Given the description of an element on the screen output the (x, y) to click on. 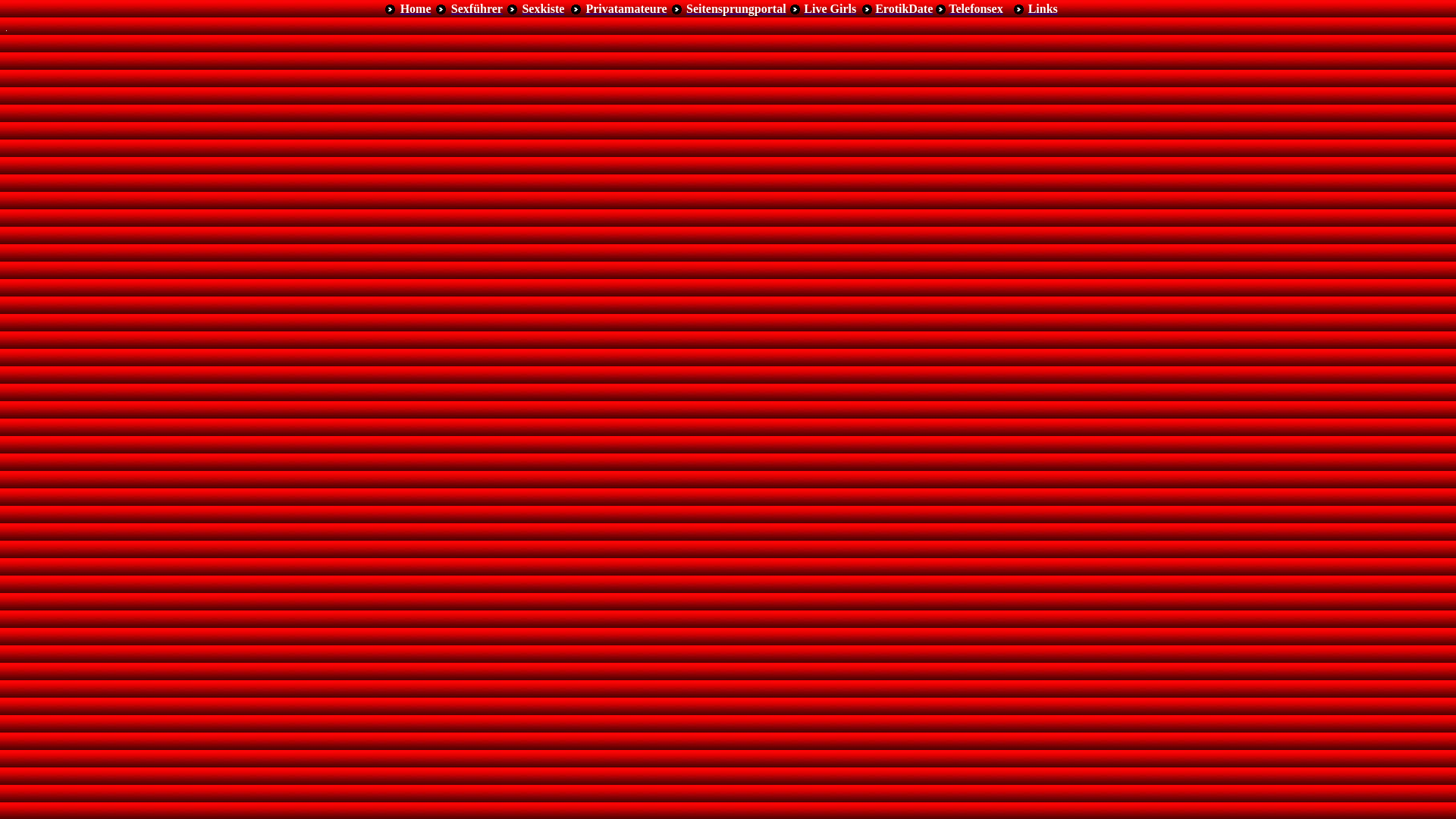
Home Element type: text (415, 8)
Seitensprungportal Element type: text (736, 8)
Telefonsex Element type: text (975, 8)
Links Element type: text (1042, 8)
Sexkiste Element type: text (542, 8)
Live Girls Element type: text (829, 8)
Privatamateure Element type: text (625, 8)
ErotikDate Element type: text (903, 8)
